Given the description of an element on the screen output the (x, y) to click on. 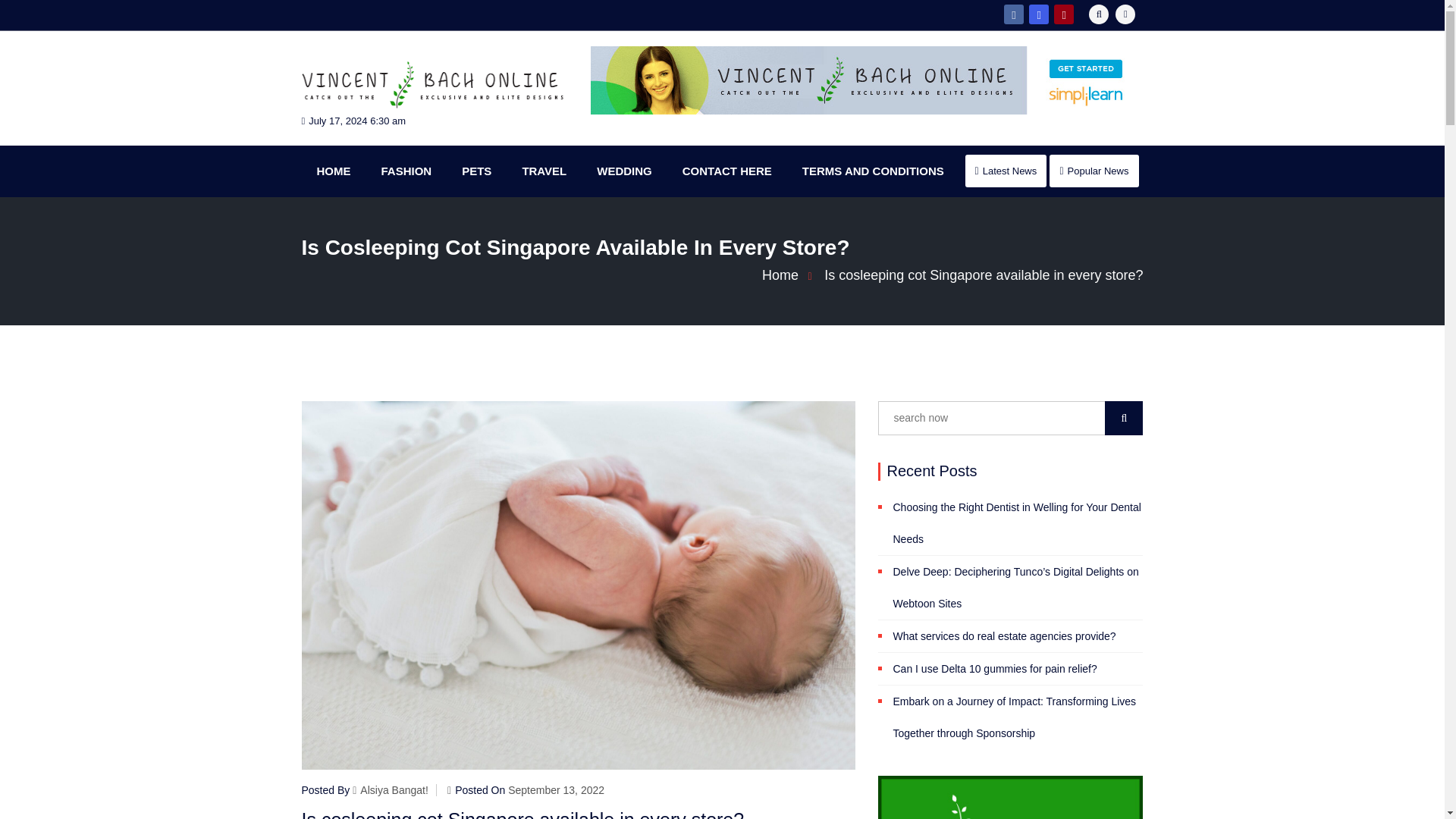
fashion (405, 171)
pets (476, 171)
Popular News (1093, 170)
HOME (333, 171)
VINCENT BACH ONLINE (431, 129)
WEDDING (623, 171)
wedding (623, 171)
TRAVEL (543, 171)
Latest News (1005, 170)
TERMS AND CONDITIONS (873, 171)
Contact Here (726, 171)
Home (333, 171)
PETS (476, 171)
Terms and Conditions (873, 171)
FASHION (405, 171)
